Given the description of an element on the screen output the (x, y) to click on. 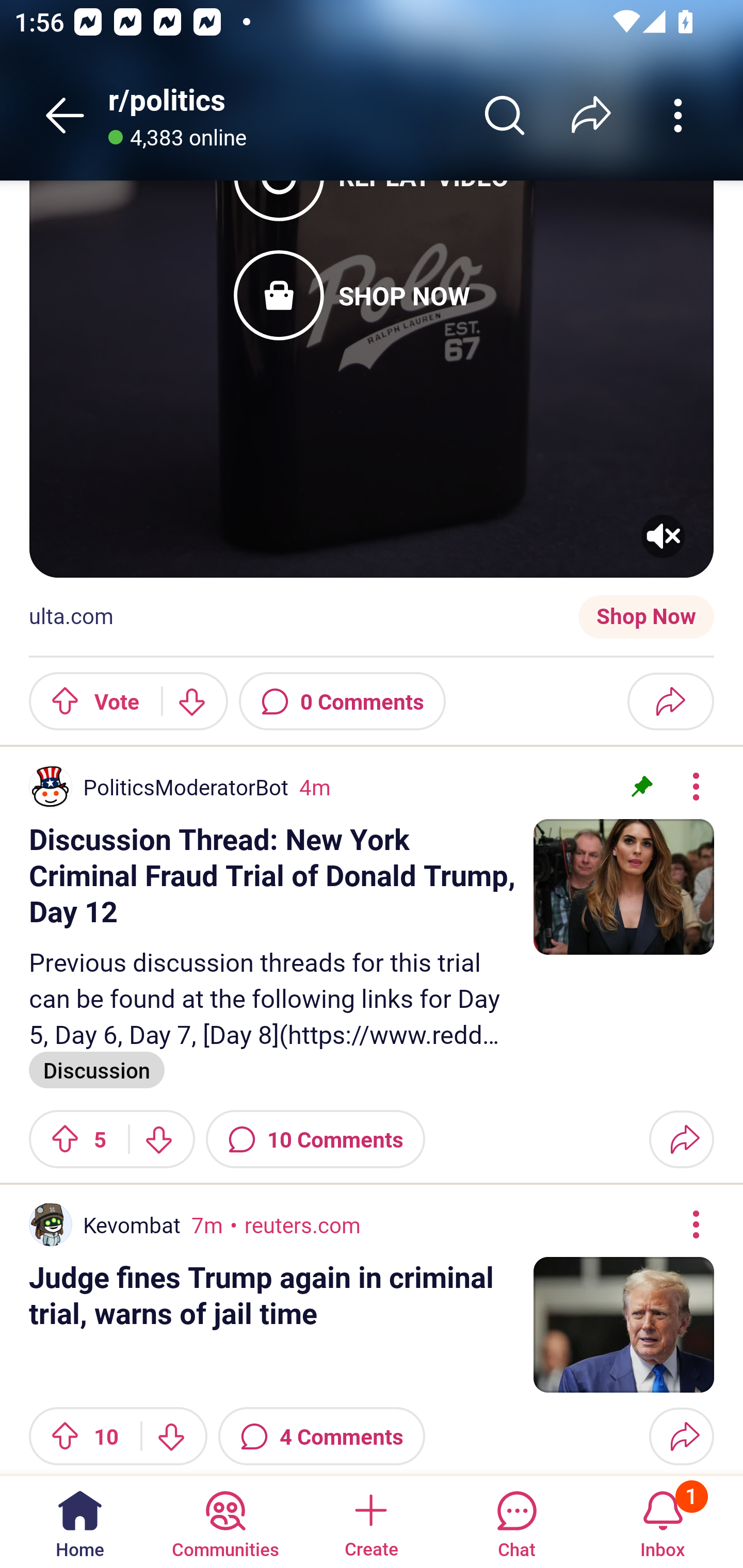
Back (64, 115)
Search r/﻿politics (504, 115)
Share r/﻿politics (591, 115)
More community actions (677, 115)
Discussion (96, 1068)
Home (80, 1520)
Communities (225, 1520)
Create a post Create (370, 1520)
Chat (516, 1520)
Inbox, has 1 notification 1 Inbox (662, 1520)
